Given the description of an element on the screen output the (x, y) to click on. 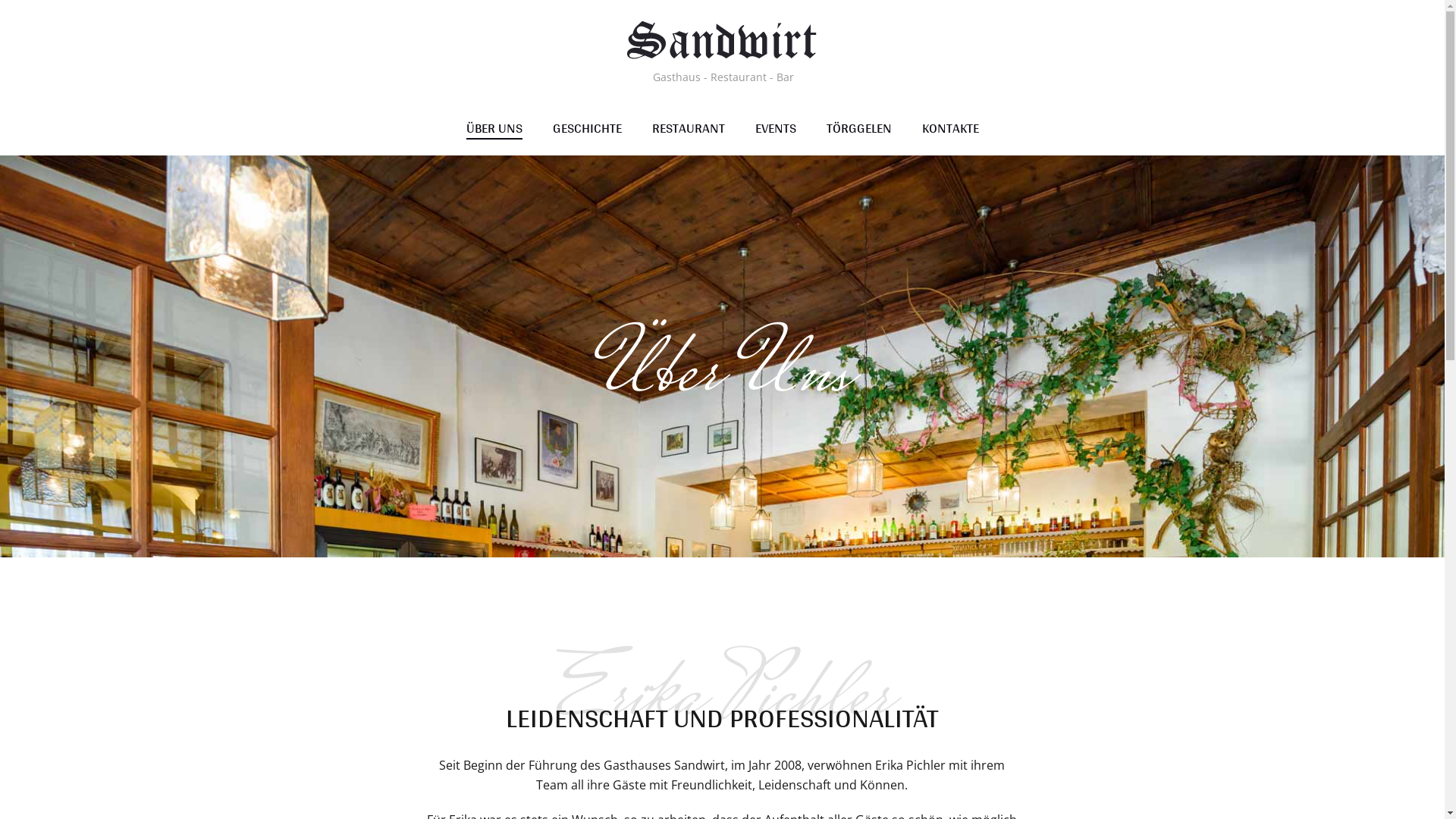
Sandwirt
Gasthaus - Restaurant - Bar Element type: text (721, 50)
RESTAURANT Element type: text (688, 128)
GESCHICHTE Element type: text (586, 128)
KONTAKTE Element type: text (950, 128)
EVENTS Element type: text (775, 128)
